Given the description of an element on the screen output the (x, y) to click on. 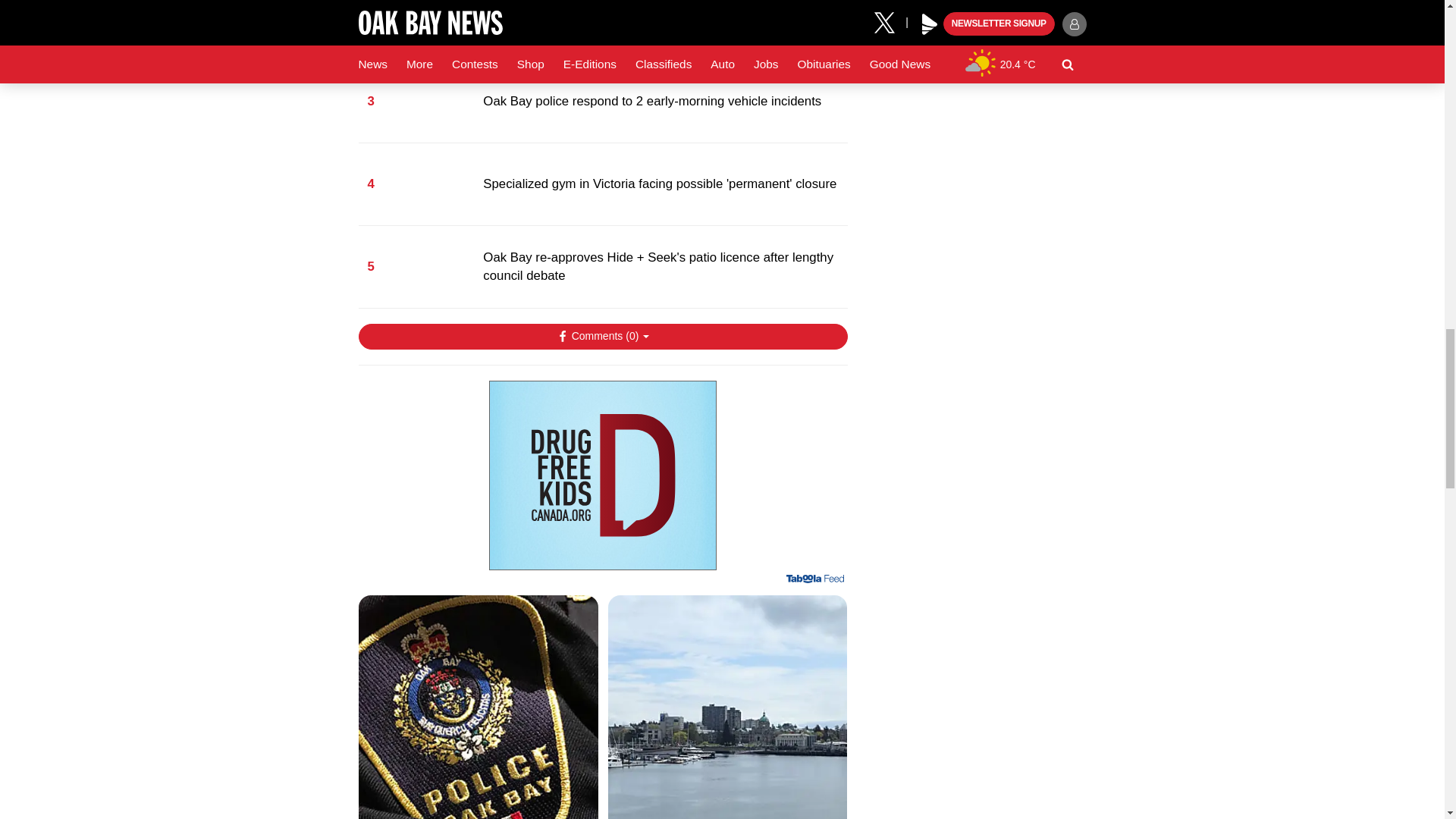
Show Comments (602, 336)
3rd party ad content (602, 475)
